Given the description of an element on the screen output the (x, y) to click on. 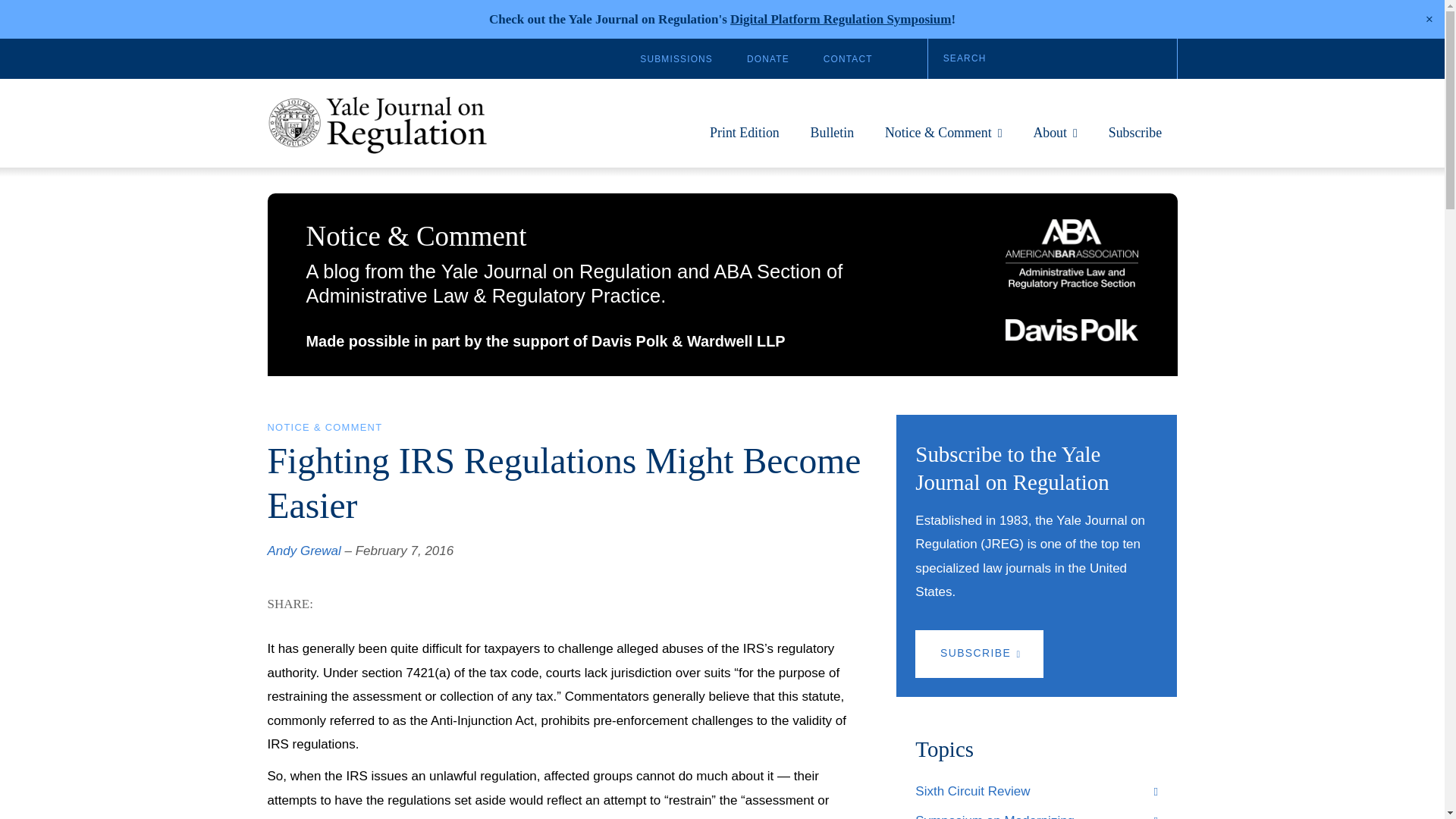
Subscribe (1134, 140)
Andy Grewal (303, 550)
CONTACT (848, 59)
Digital Platform Regulation Symposium (840, 19)
Search (1052, 58)
DONATE (767, 59)
Print Edition (744, 140)
SUBMISSIONS (676, 59)
